Given the description of an element on the screen output the (x, y) to click on. 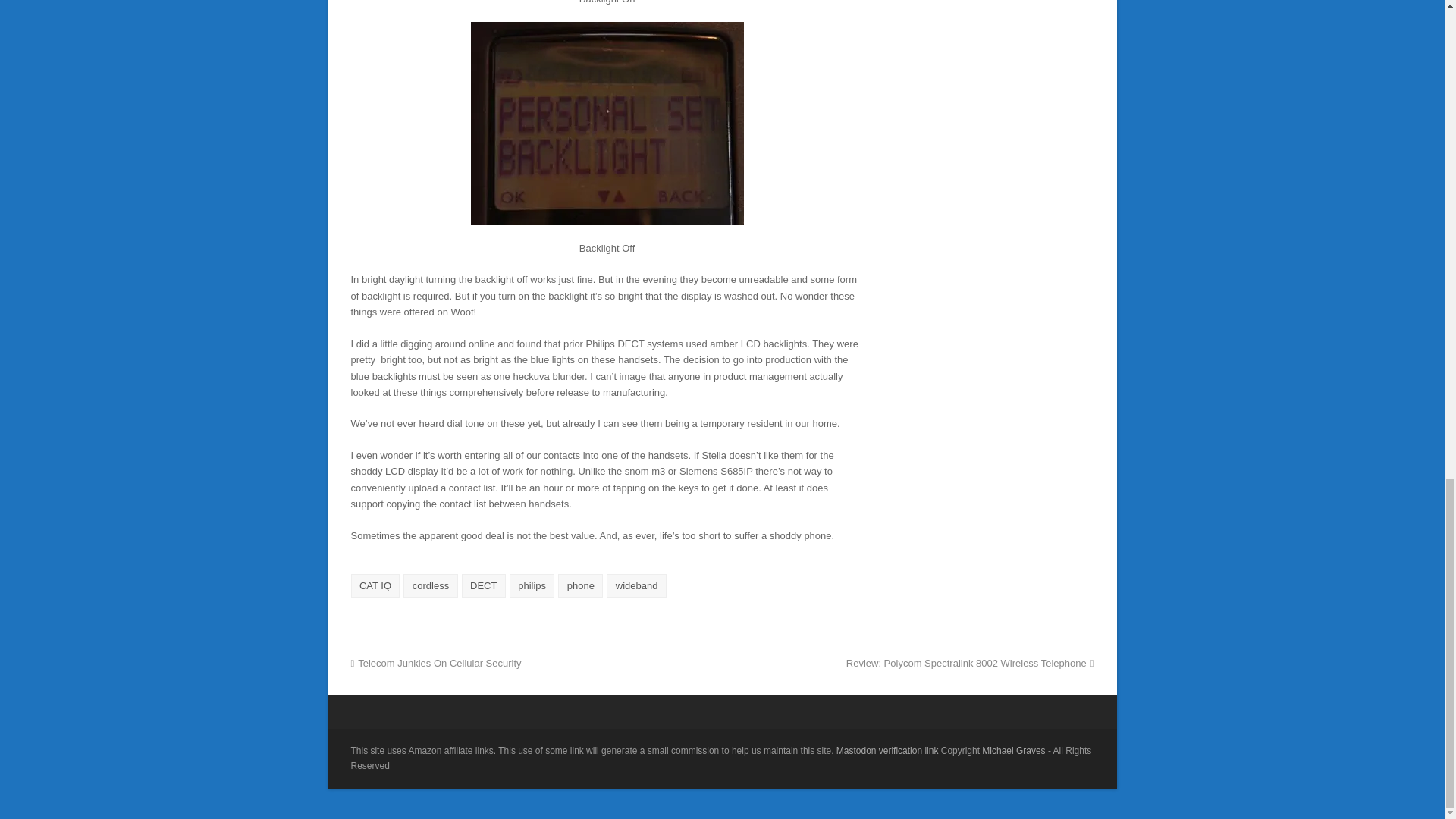
cordless (430, 585)
CAT IQ (374, 585)
wideband (636, 585)
philips (531, 585)
phone (579, 585)
philips-dect-lcd-backlight-off (607, 123)
DECT (483, 585)
